Given the description of an element on the screen output the (x, y) to click on. 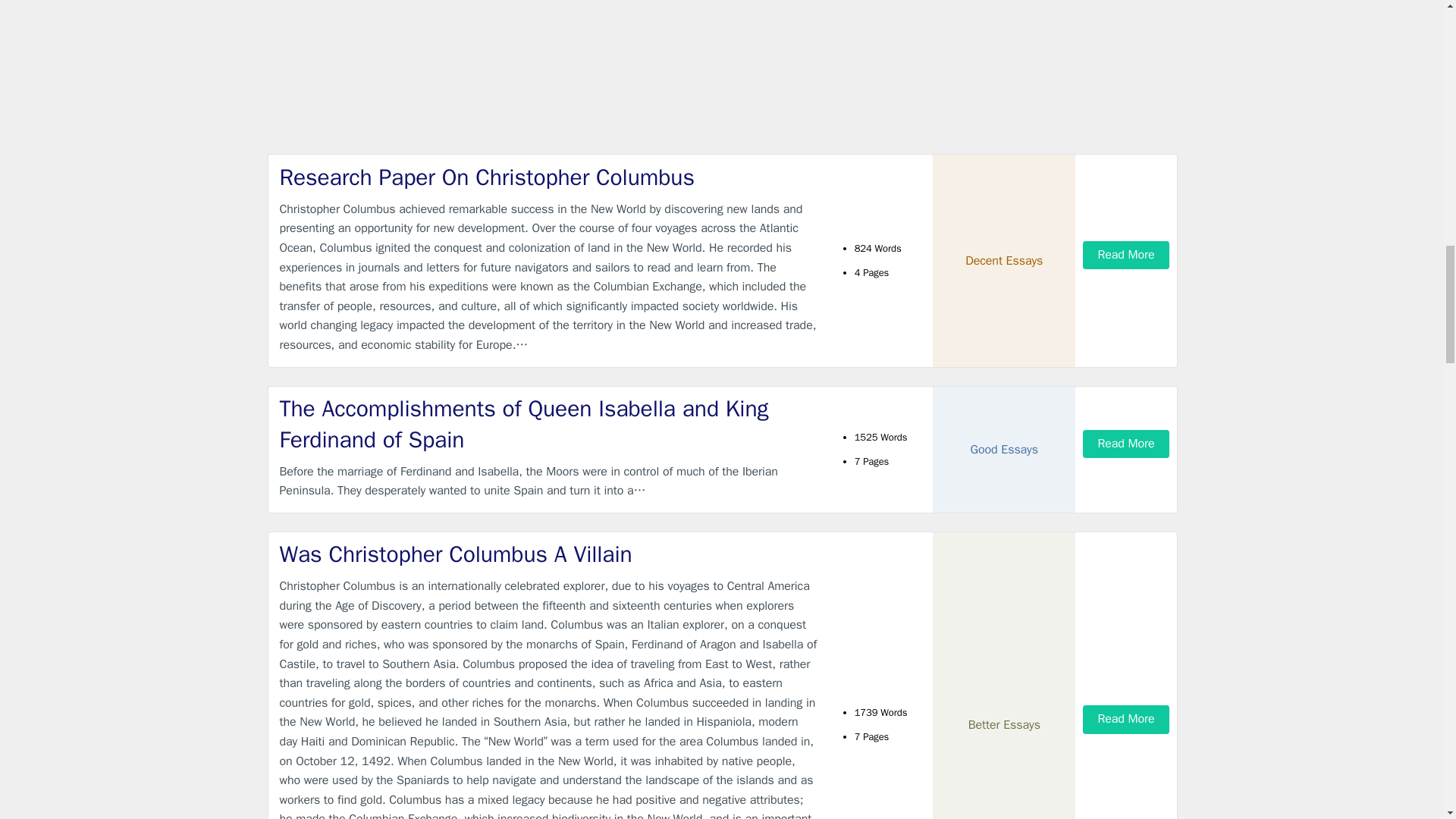
Read More (1126, 254)
Read More (1126, 443)
Was Christopher Columbus A Villain (548, 554)
Read More (1126, 719)
Research Paper On Christopher Columbus (548, 177)
